Given the description of an element on the screen output the (x, y) to click on. 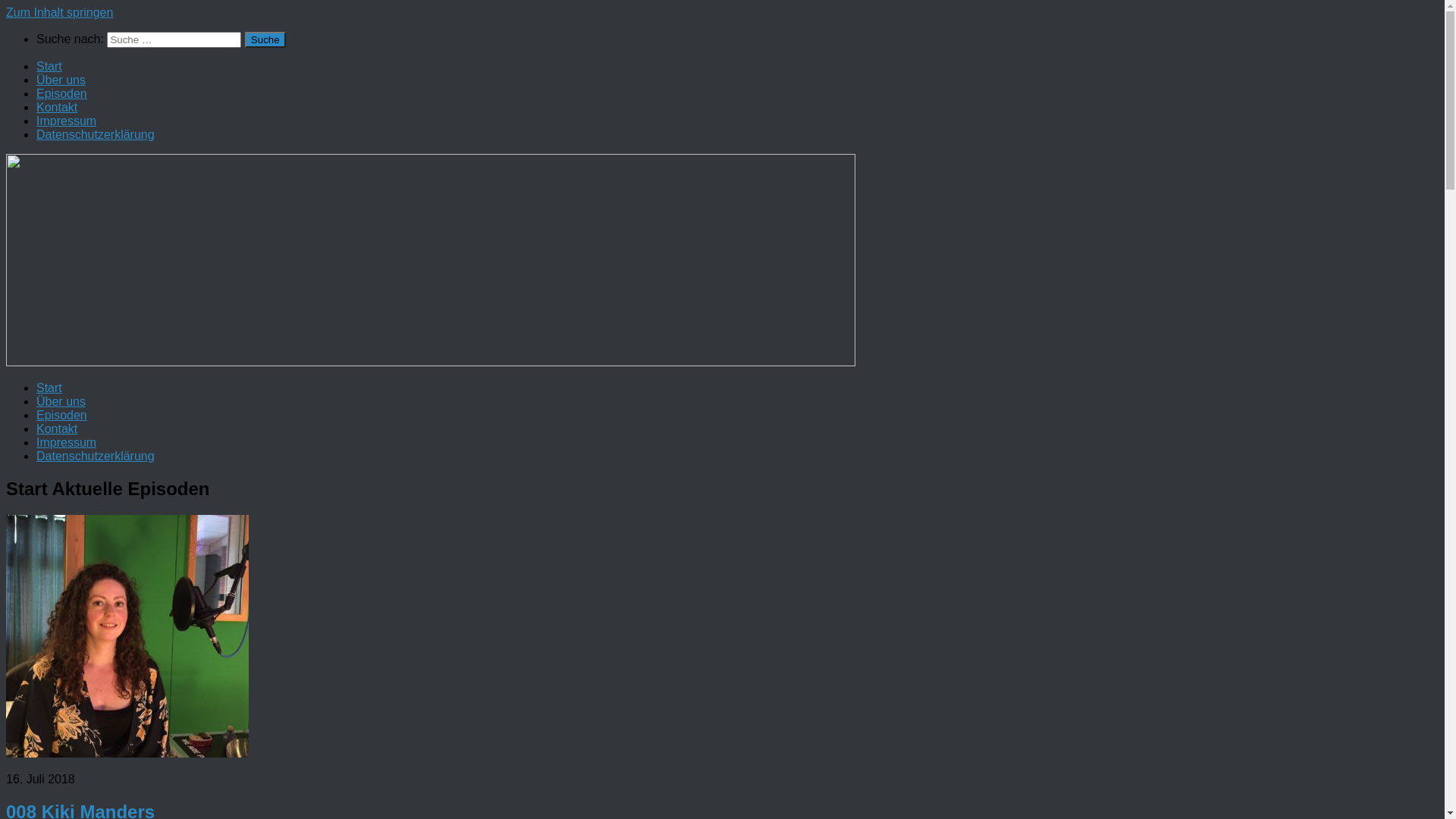
Zum Inhalt springen Element type: text (59, 12)
Impressum Element type: text (66, 120)
Kontakt Element type: text (56, 106)
Episoden Element type: text (61, 414)
Episoden Element type: text (61, 93)
Start Element type: text (49, 387)
Kontakt Element type: text (56, 428)
Suche Element type: text (264, 39)
Start Element type: text (49, 65)
Impressum Element type: text (66, 442)
